Given the description of an element on the screen output the (x, y) to click on. 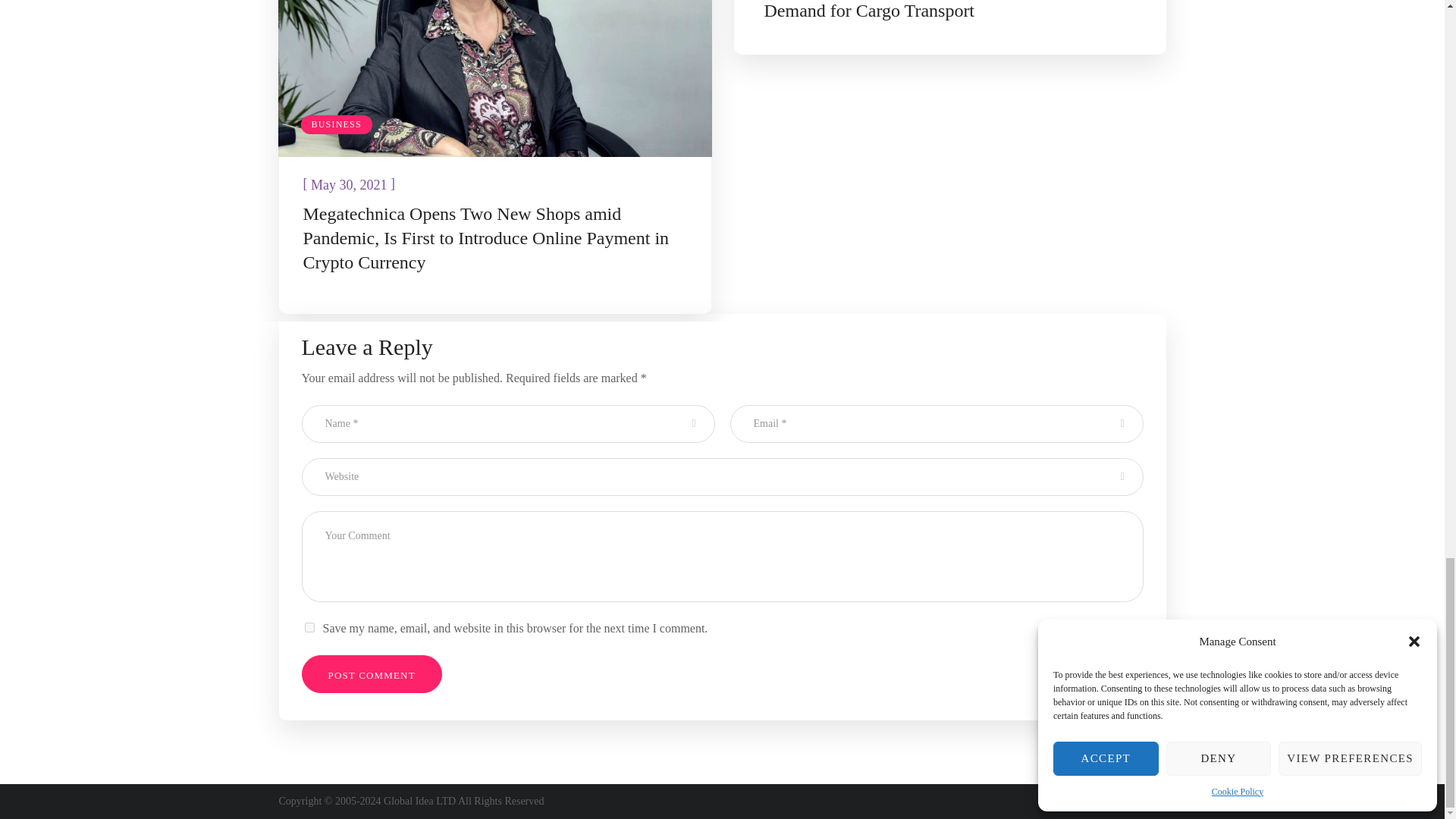
yes (309, 627)
Post Comment (371, 673)
Website (721, 476)
